Given the description of an element on the screen output the (x, y) to click on. 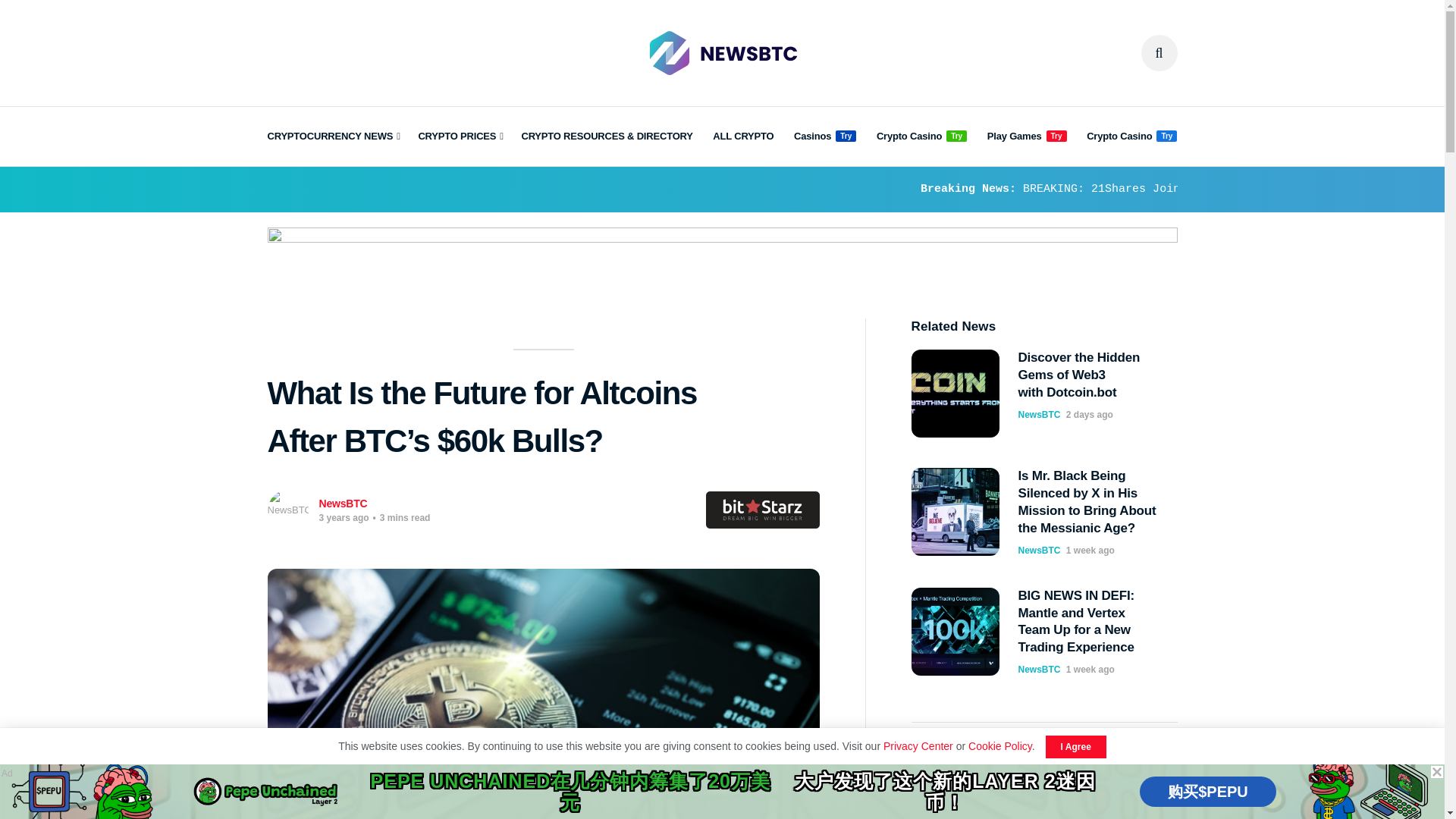
ALL CRYPTO (743, 136)
CRYPTOCURRENCY NEWS (331, 136)
CRYPTO PRICES (458, 136)
